Given the description of an element on the screen output the (x, y) to click on. 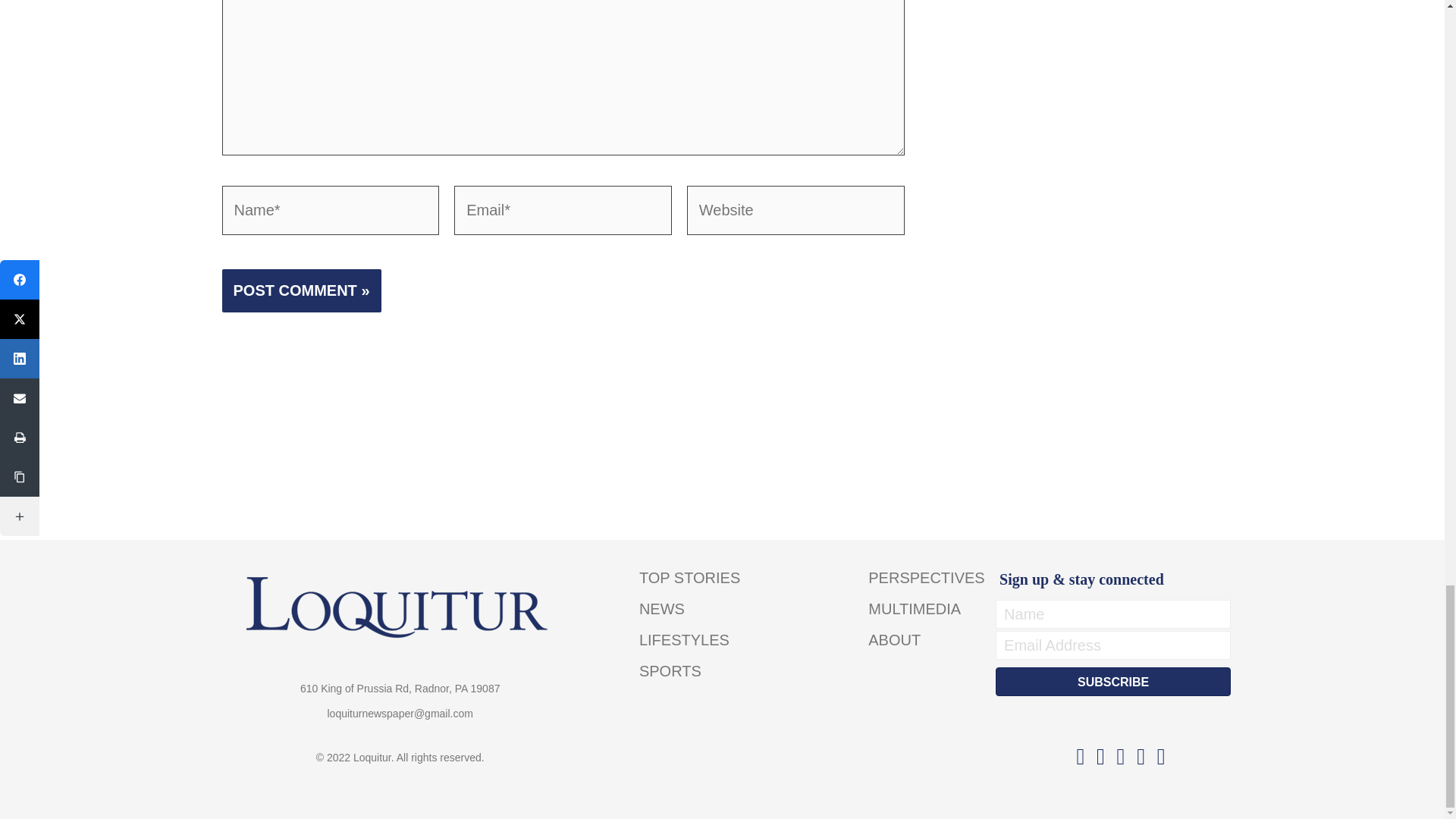
logo-no-tagline (400, 608)
